Given the description of an element on the screen output the (x, y) to click on. 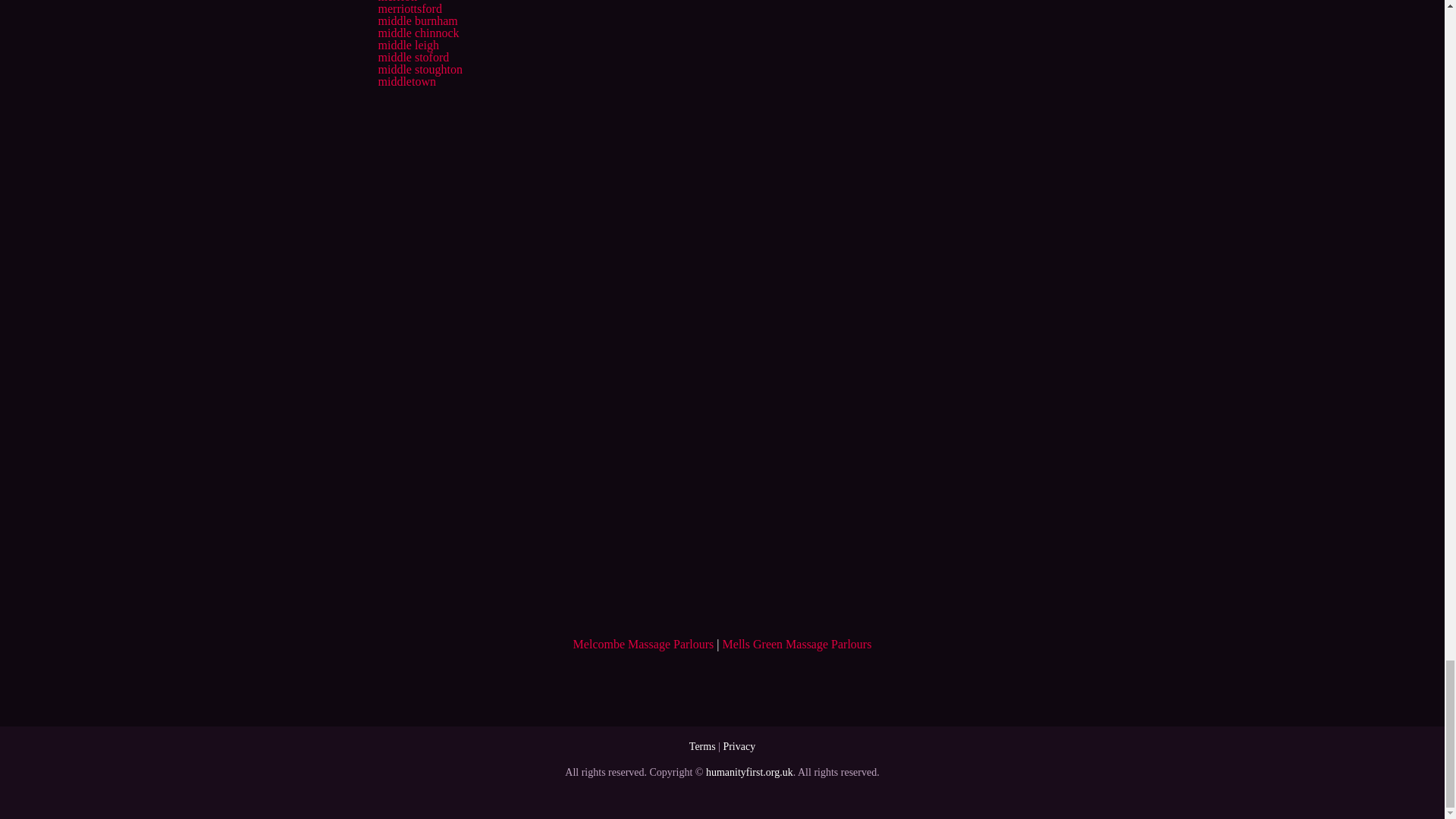
Terms (702, 746)
merriott (396, 1)
middle stoford (412, 56)
Privacy (738, 746)
middle chinnock (417, 32)
middle burnham (417, 20)
Mells Green Massage Parlours (797, 644)
middletown (406, 81)
humanityfirst.org.uk (749, 772)
merriottsford (409, 8)
